Given the description of an element on the screen output the (x, y) to click on. 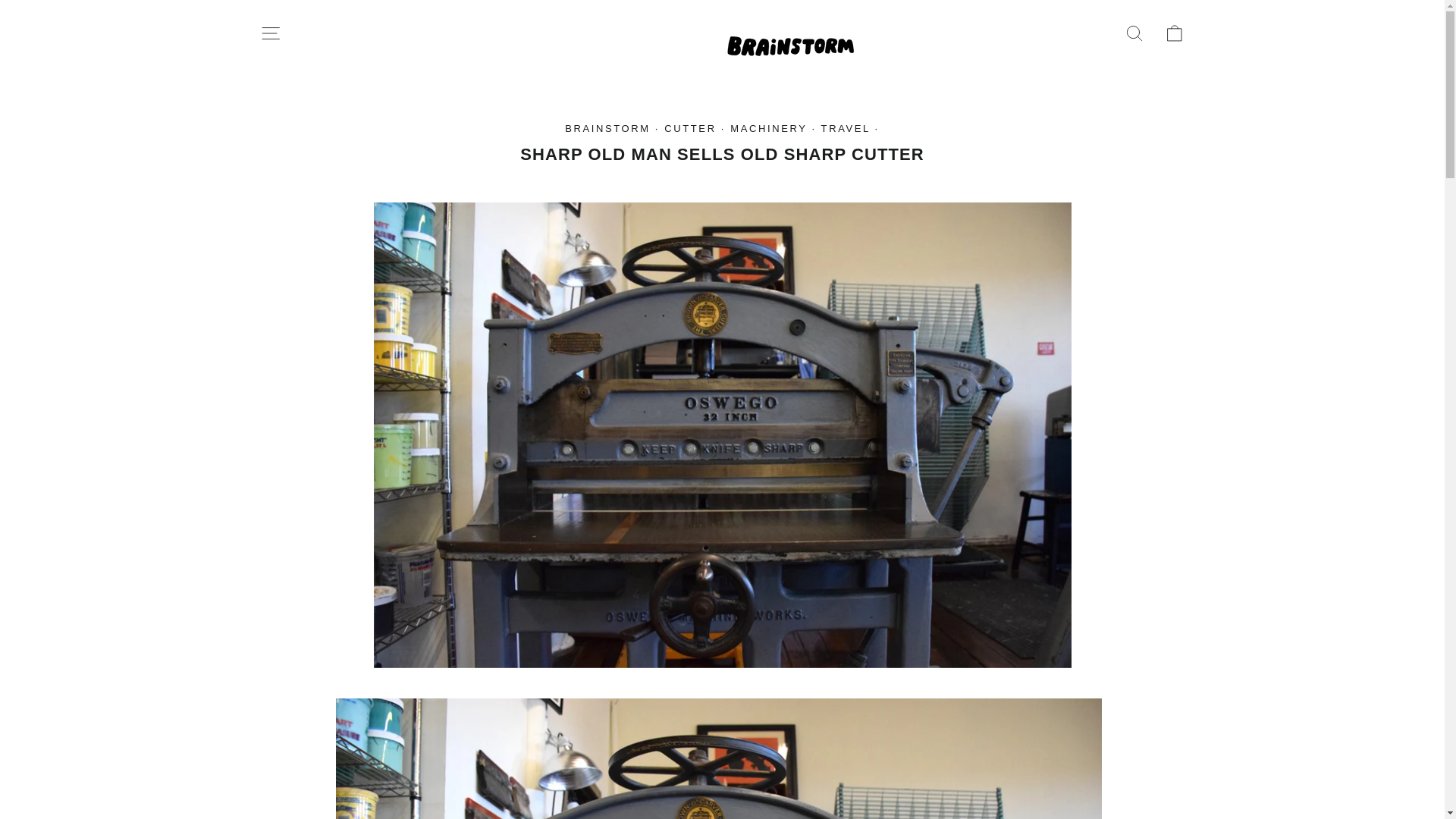
ICON-HAMBURGER (270, 33)
ICON-BAG-MINIMAL (1173, 33)
MACHINERY (1174, 33)
TRAVEL (1134, 33)
BRAINSTORM (269, 33)
CUTTER (768, 128)
ICON-SEARCH (845, 128)
